Given the description of an element on the screen output the (x, y) to click on. 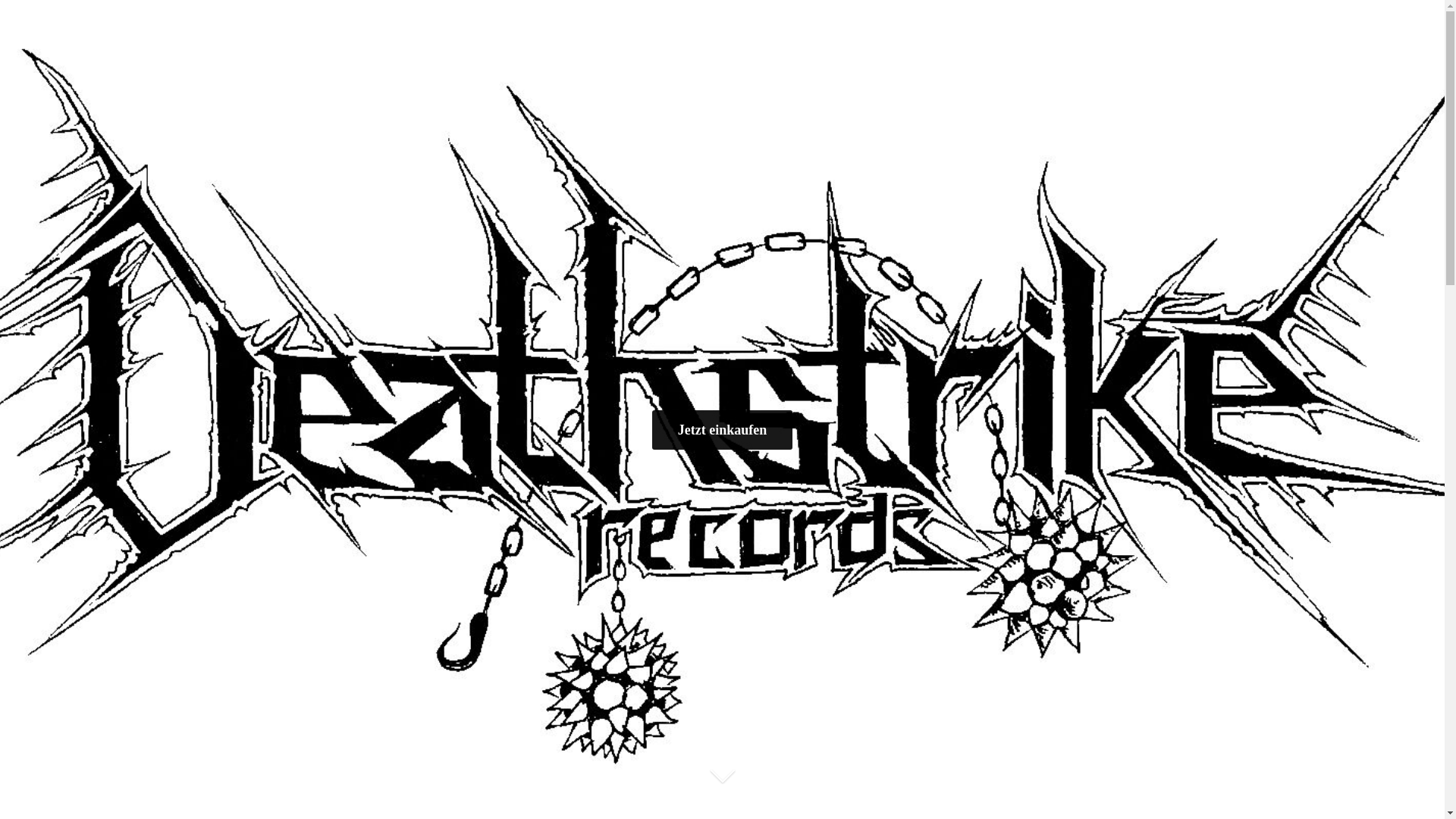
Jetzt einkaufen (722, 429)
